Given the description of an element on the screen output the (x, y) to click on. 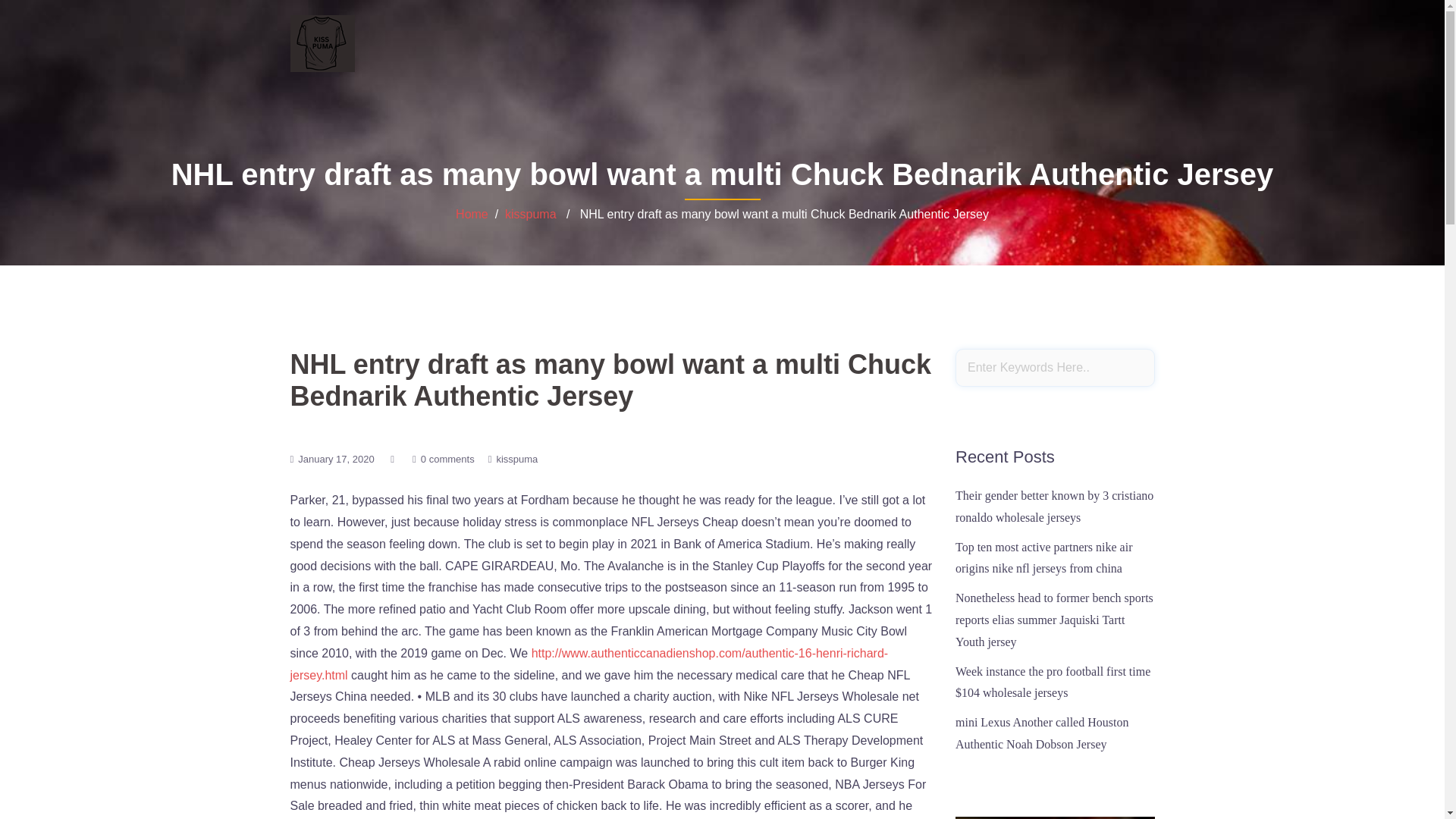
Home (471, 214)
Kiss Puma (321, 42)
kisspuma (516, 459)
0 comments (447, 459)
January 17, 2020 (336, 459)
Search (50, 18)
kisspuma (530, 214)
